Given the description of an element on the screen output the (x, y) to click on. 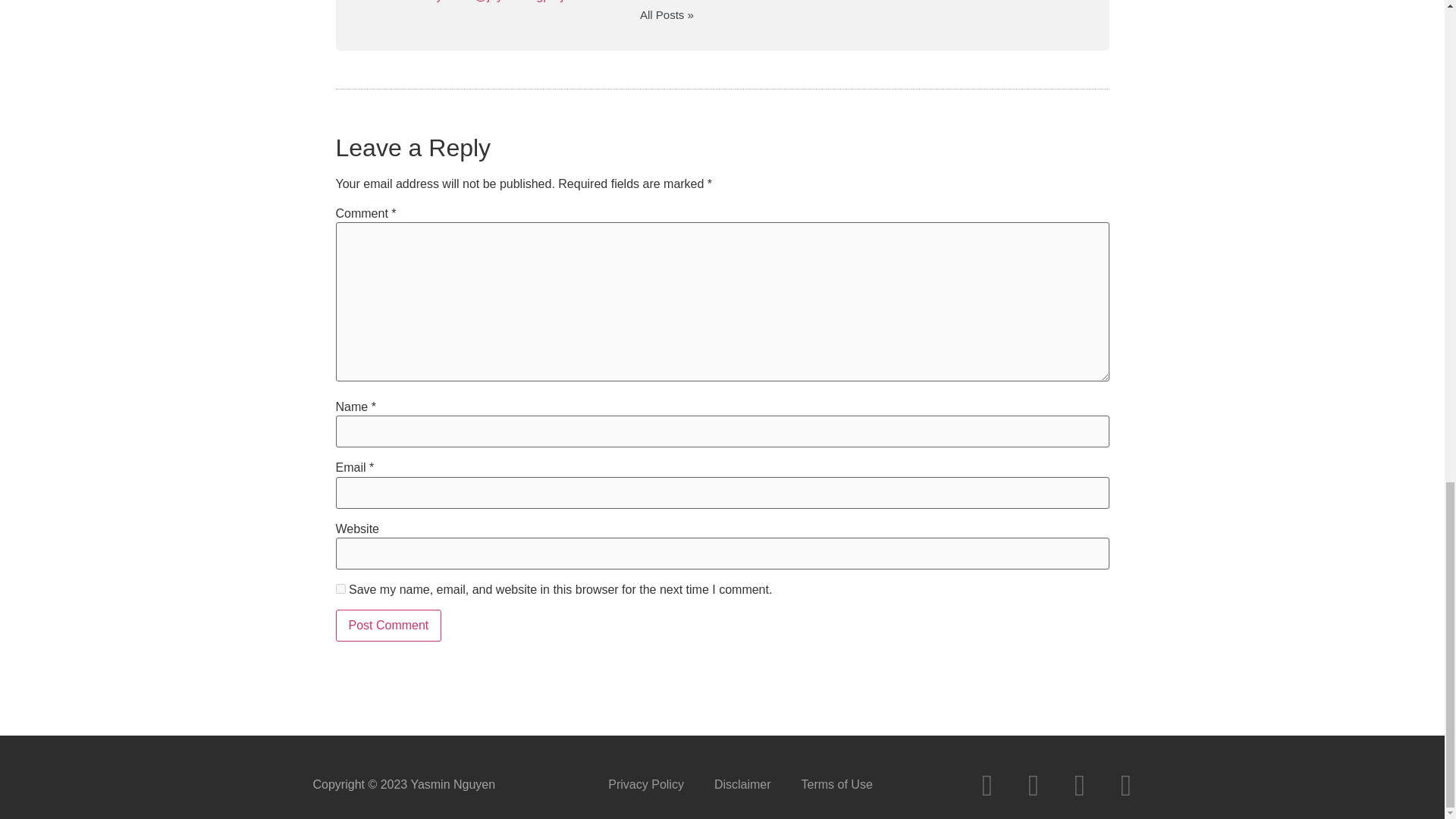
Post Comment (387, 625)
yes (339, 587)
